Given the description of an element on the screen output the (x, y) to click on. 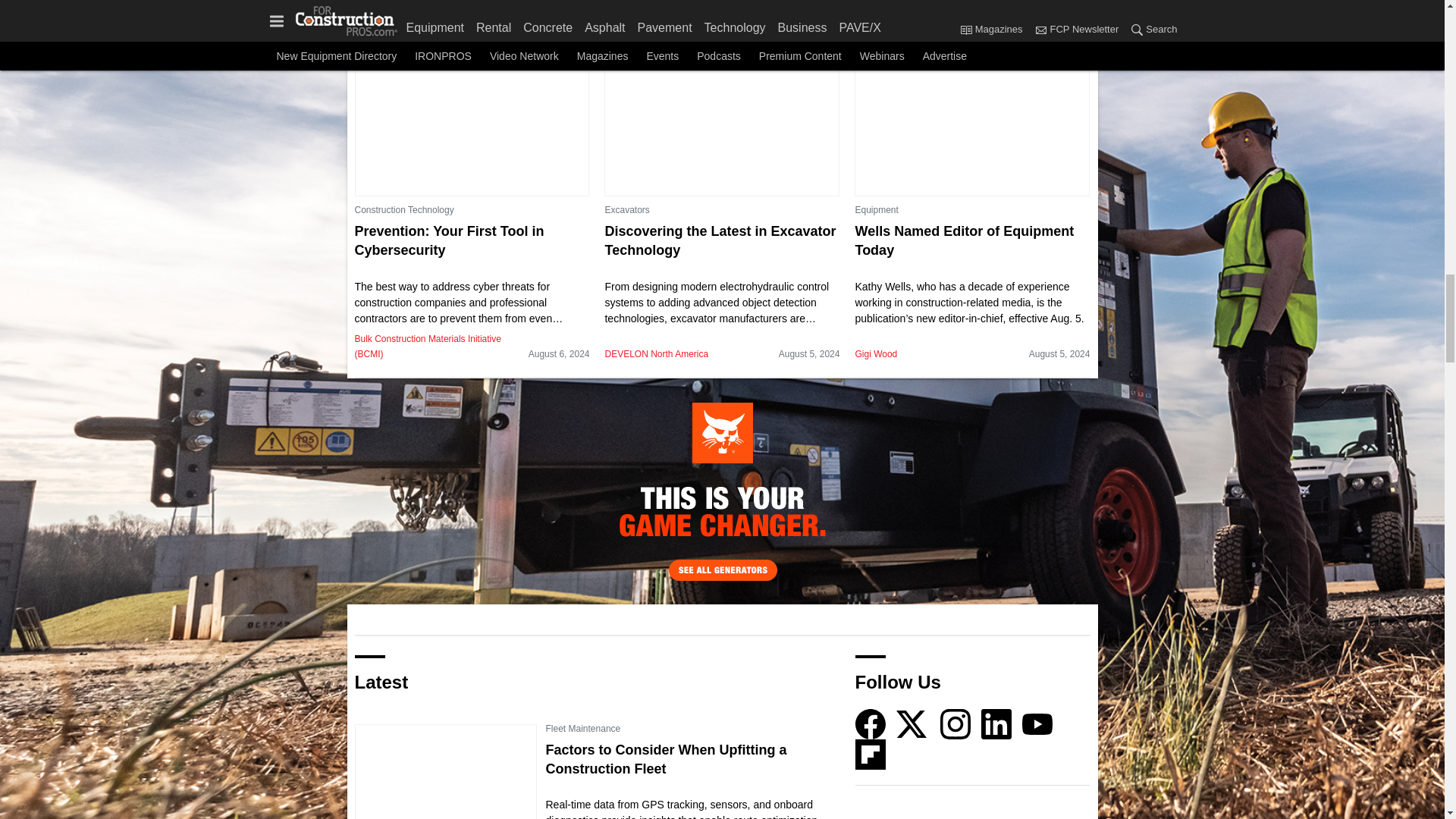
YouTube icon (1037, 724)
Instagram icon (955, 724)
LinkedIn icon (996, 724)
Facebook icon (870, 724)
Flipboard icon (870, 754)
Twitter X icon (911, 724)
